Given the description of an element on the screen output the (x, y) to click on. 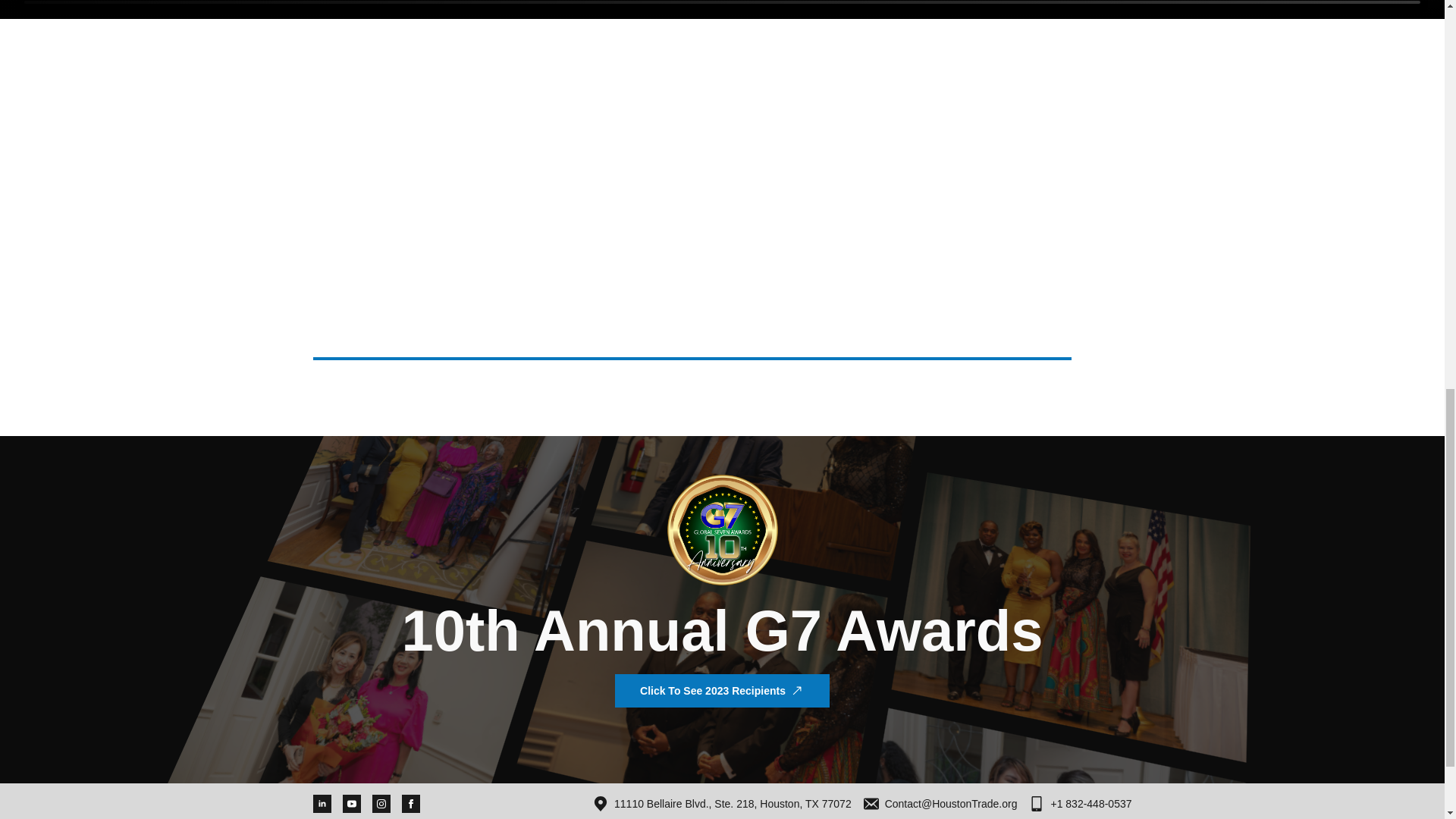
Click To See 2023 Recipients (721, 690)
